Given the description of an element on the screen output the (x, y) to click on. 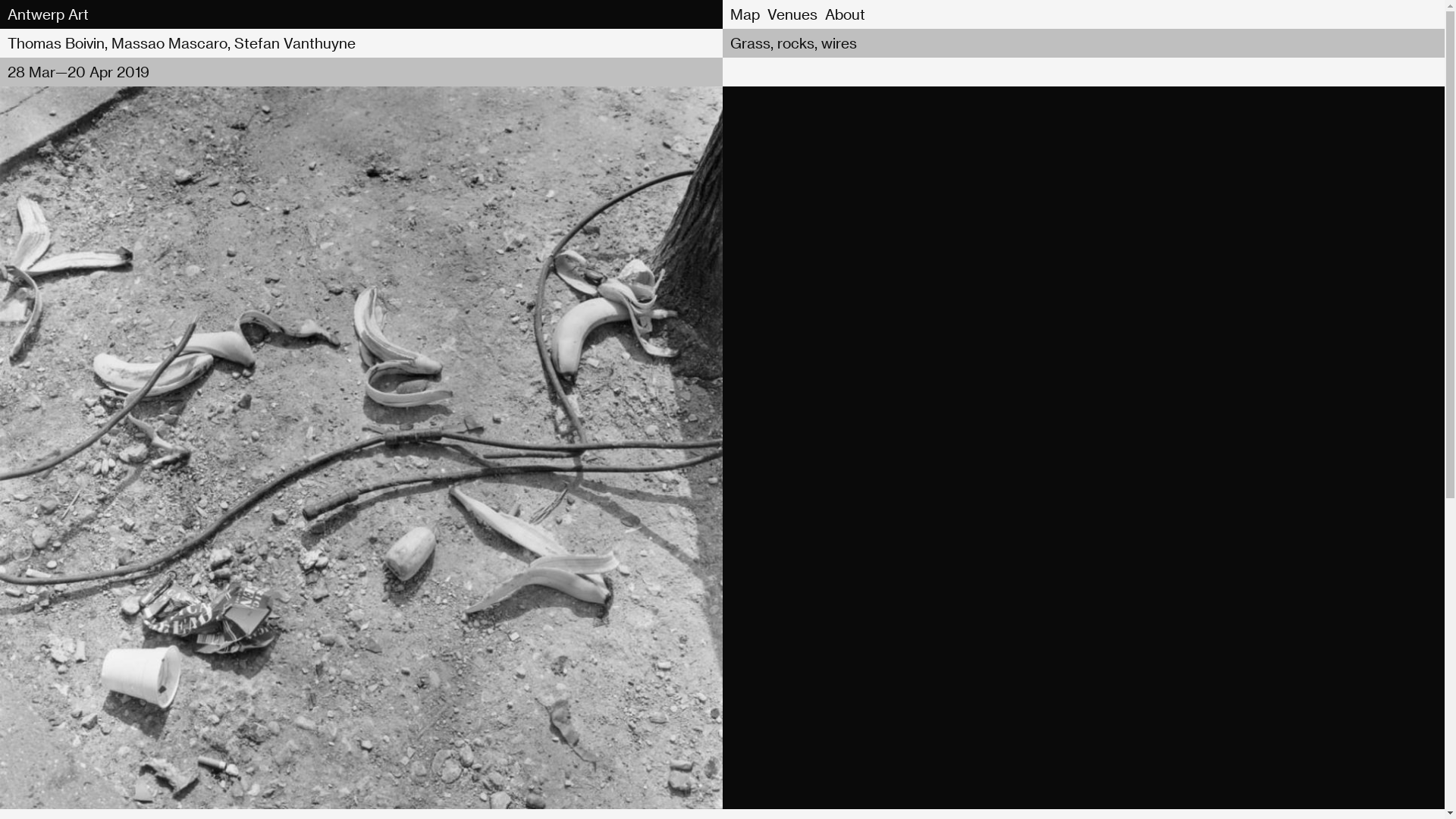
Venues Element type: text (792, 14)
About Element type: text (843, 14)
Map Element type: text (745, 14)
Antwerp Art Element type: text (47, 14)
